Given the description of an element on the screen output the (x, y) to click on. 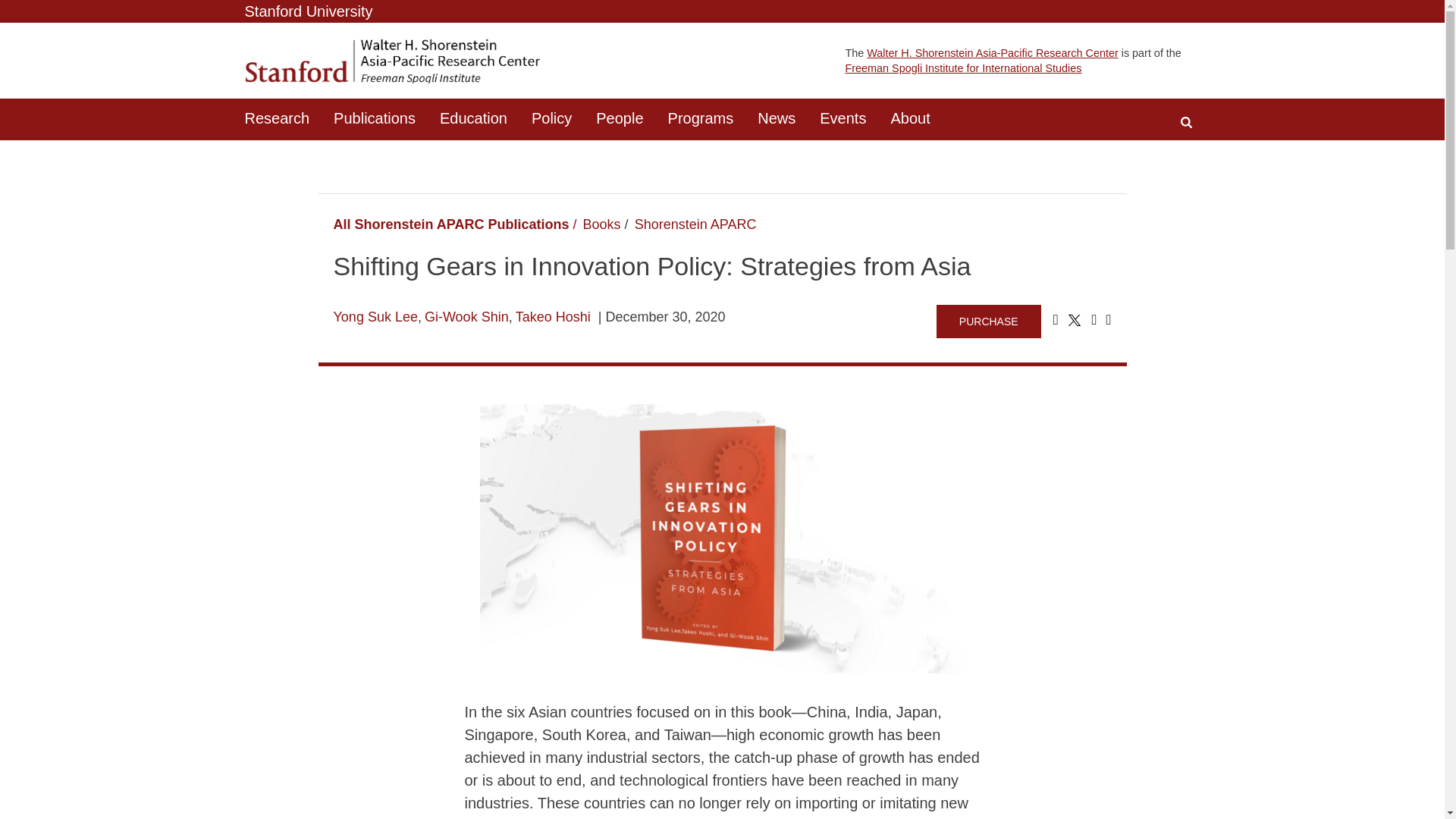
Education (473, 118)
Stanford University (308, 11)
Search (1185, 122)
Home (392, 60)
Search (1185, 122)
People (619, 118)
Walter H. Shorenstein Asia-Pacific Research Center (992, 52)
Freeman Spogli Institute for International Studies (962, 68)
Events (842, 118)
Programs (700, 118)
Publications (374, 118)
About (909, 118)
News (776, 118)
Policy (551, 118)
Research (276, 118)
